Given the description of an element on the screen output the (x, y) to click on. 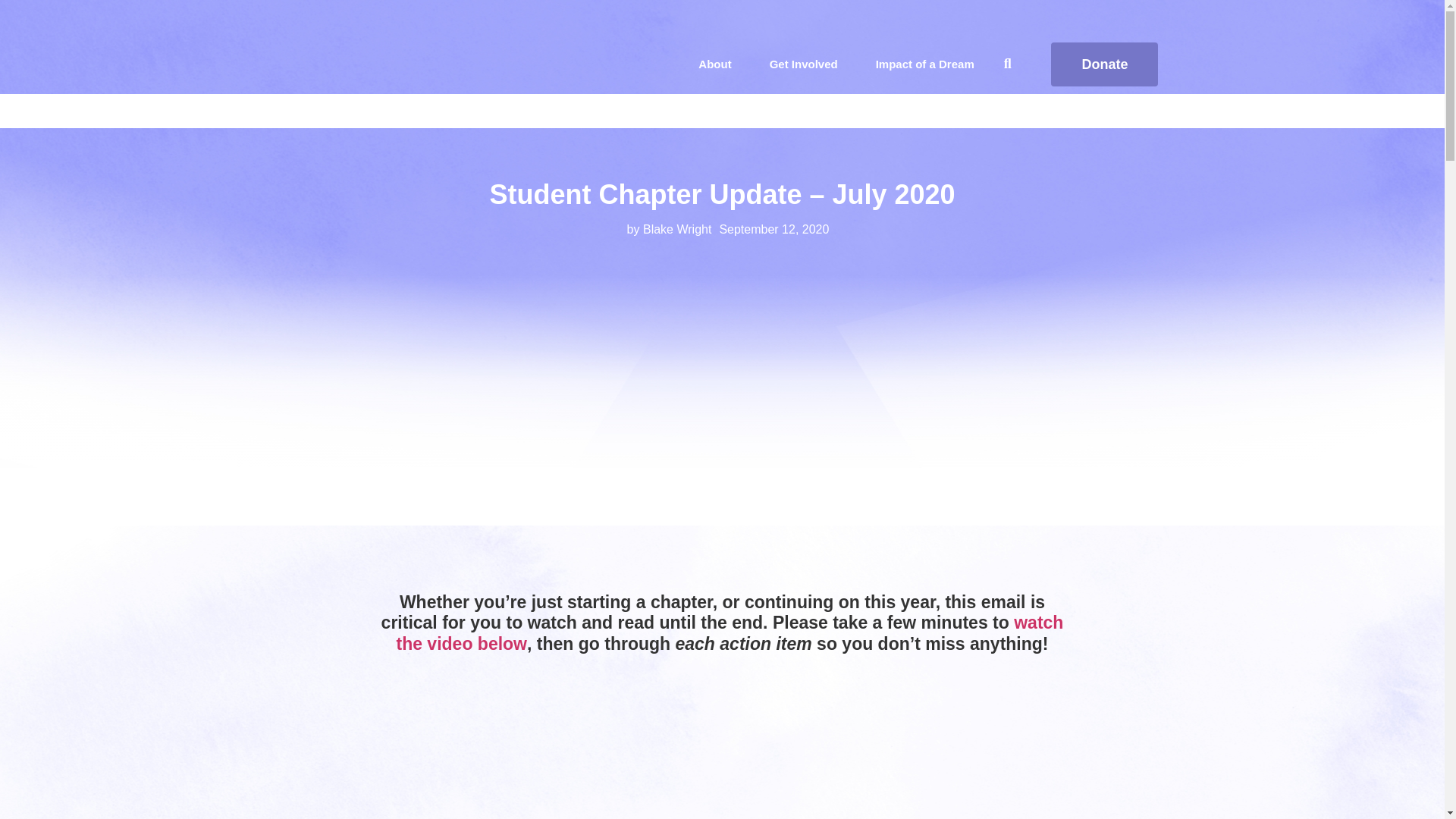
Impact of a Dream (925, 64)
watch the video below (729, 632)
Donate (1104, 64)
Get Involved (804, 64)
by Blake Wright (663, 229)
dreamcatchers-logo (383, 64)
